Given the description of an element on the screen output the (x, y) to click on. 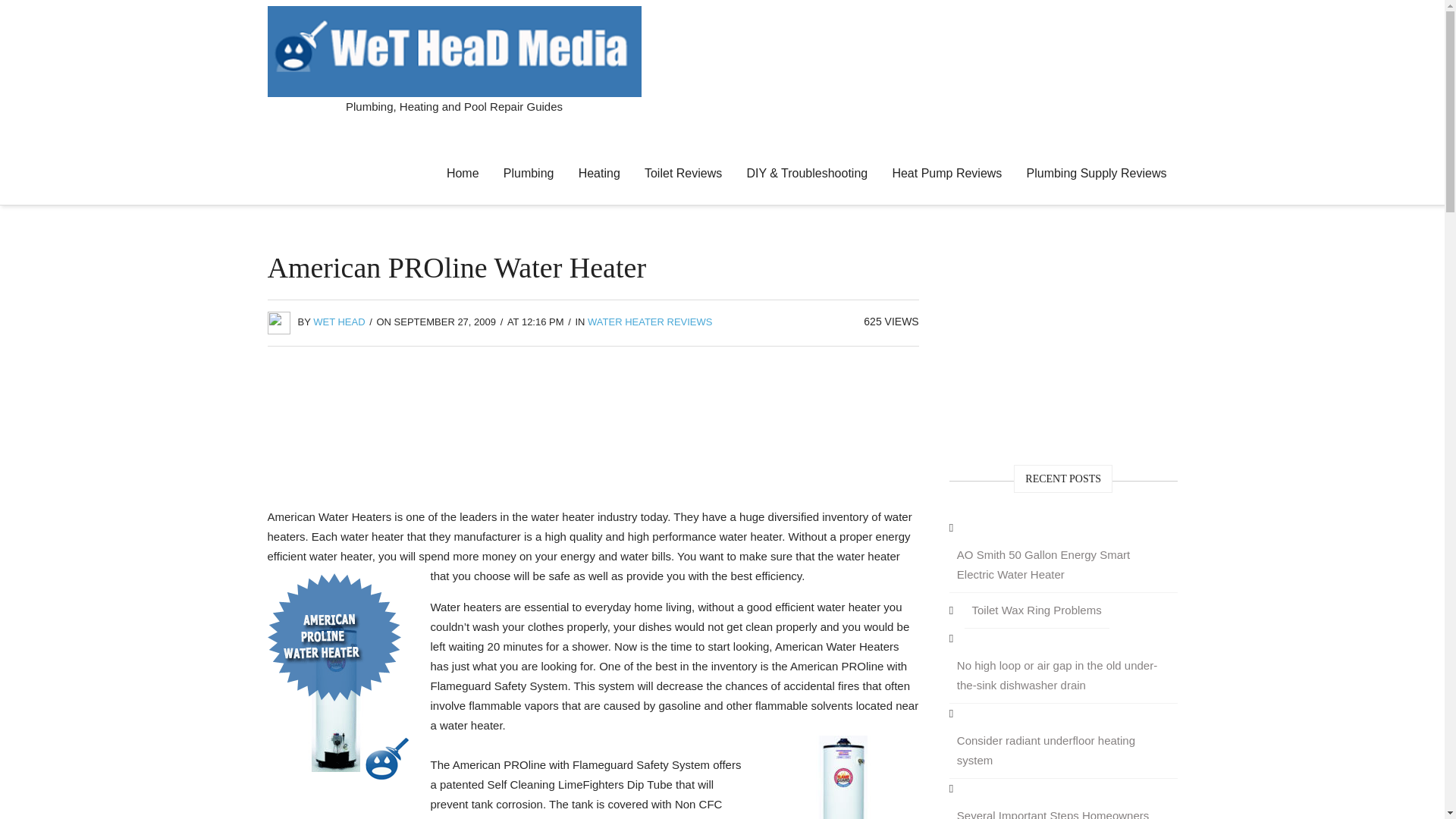
Home (462, 173)
Plumbing Supply Reviews (1096, 173)
WET HEAD (339, 321)
Heat Pump Reviews (945, 173)
Advertisement (1063, 344)
Posts by WeT HeaD (339, 321)
Toilet Wax Ring Problems (1036, 610)
American PROline Water Heater (842, 777)
Heating (598, 173)
Advertisement (592, 430)
